Given the description of an element on the screen output the (x, y) to click on. 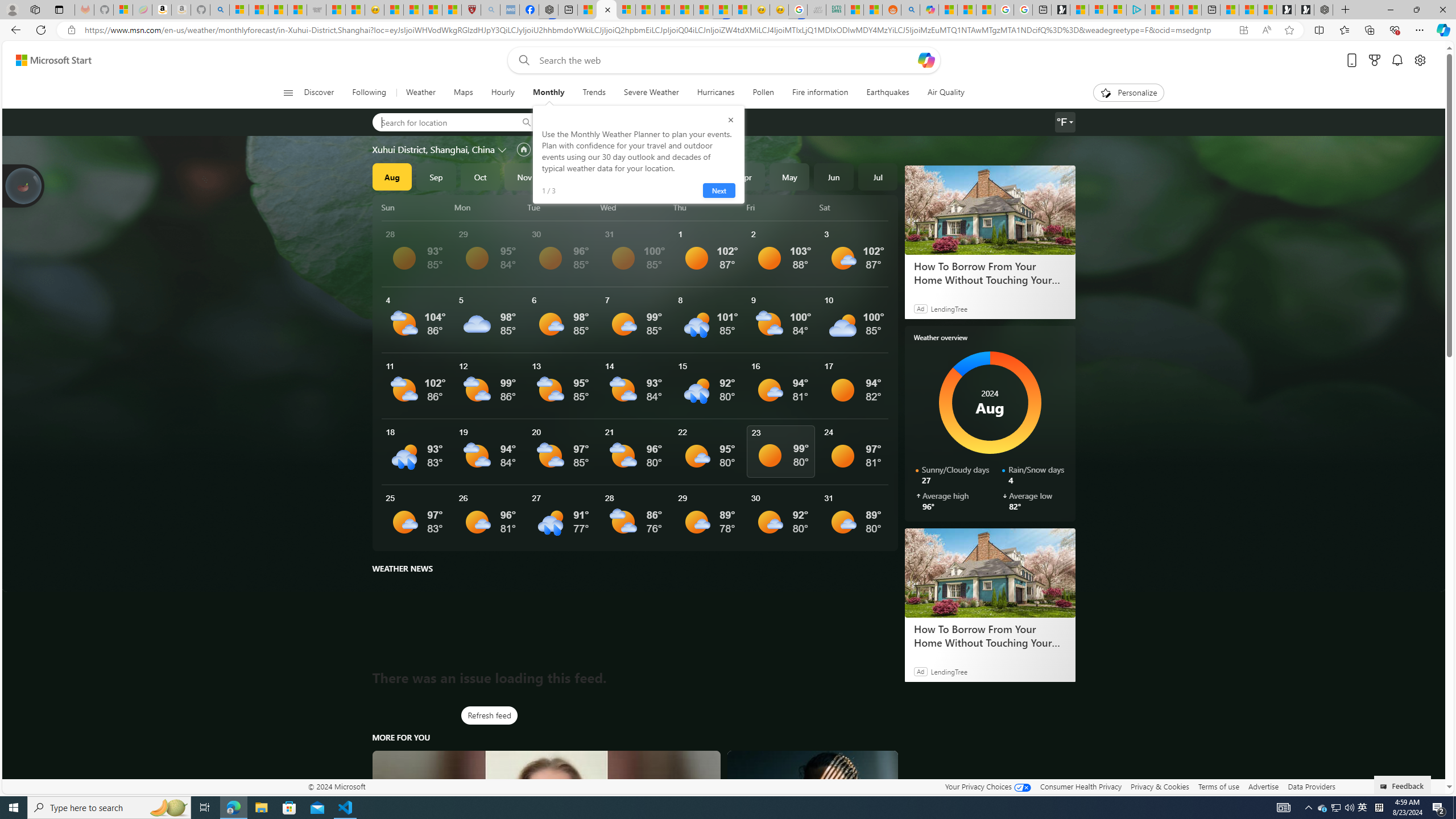
Weather (420, 92)
Trends (593, 92)
Skip to footer (46, 59)
DITOGAMES AG Imprint (835, 9)
Data Providers (1311, 786)
Stocks - MSN (296, 9)
Jun (833, 176)
Remove location (653, 122)
